Given the description of an element on the screen output the (x, y) to click on. 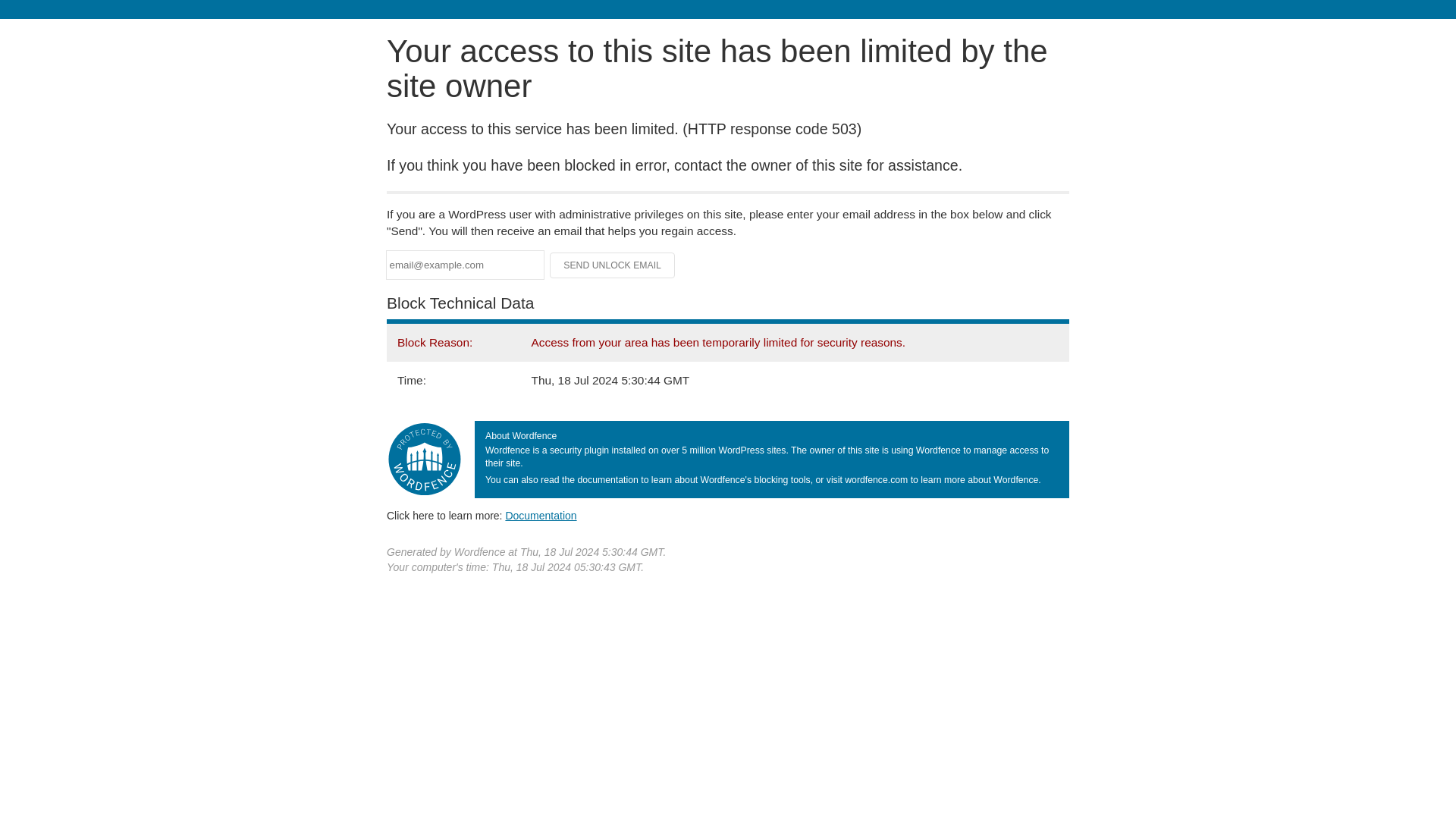
Documentation (540, 515)
Send Unlock Email (612, 265)
Send Unlock Email (612, 265)
